Given the description of an element on the screen output the (x, y) to click on. 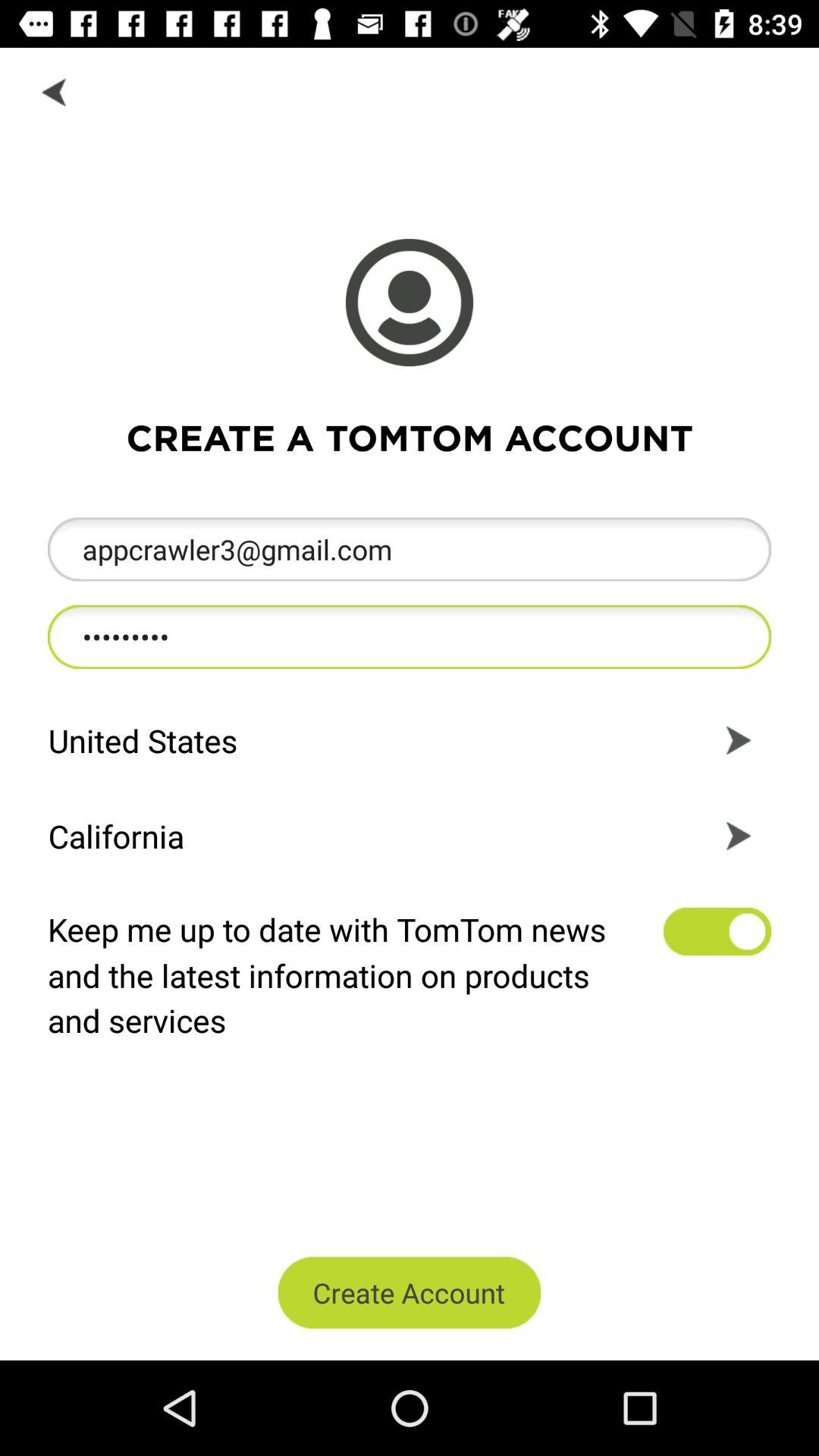
click on the text field which is below the create a tomtom account (409, 549)
